Given the description of an element on the screen output the (x, y) to click on. 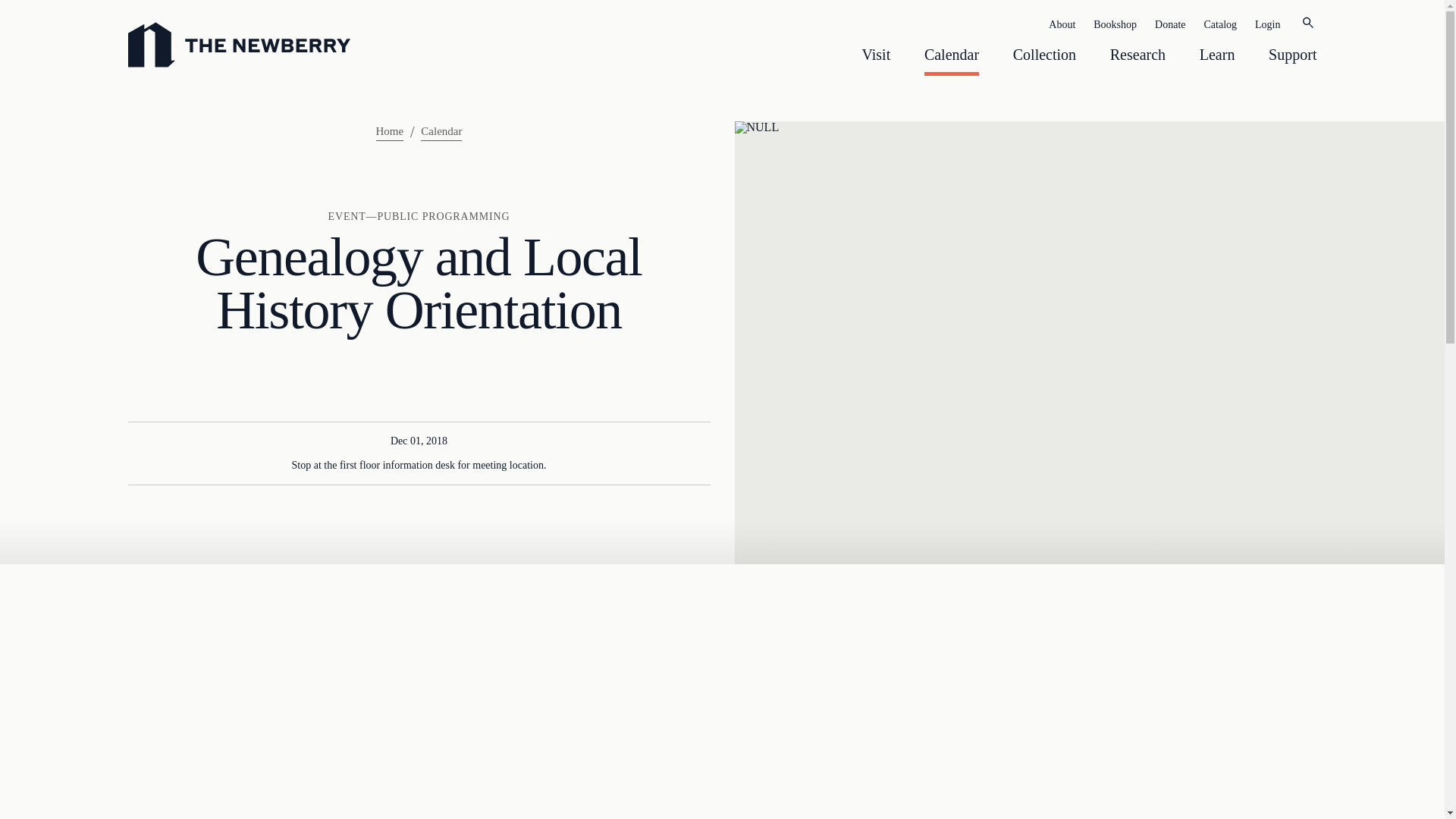
NULL (721, 724)
